Given the description of an element on the screen output the (x, y) to click on. 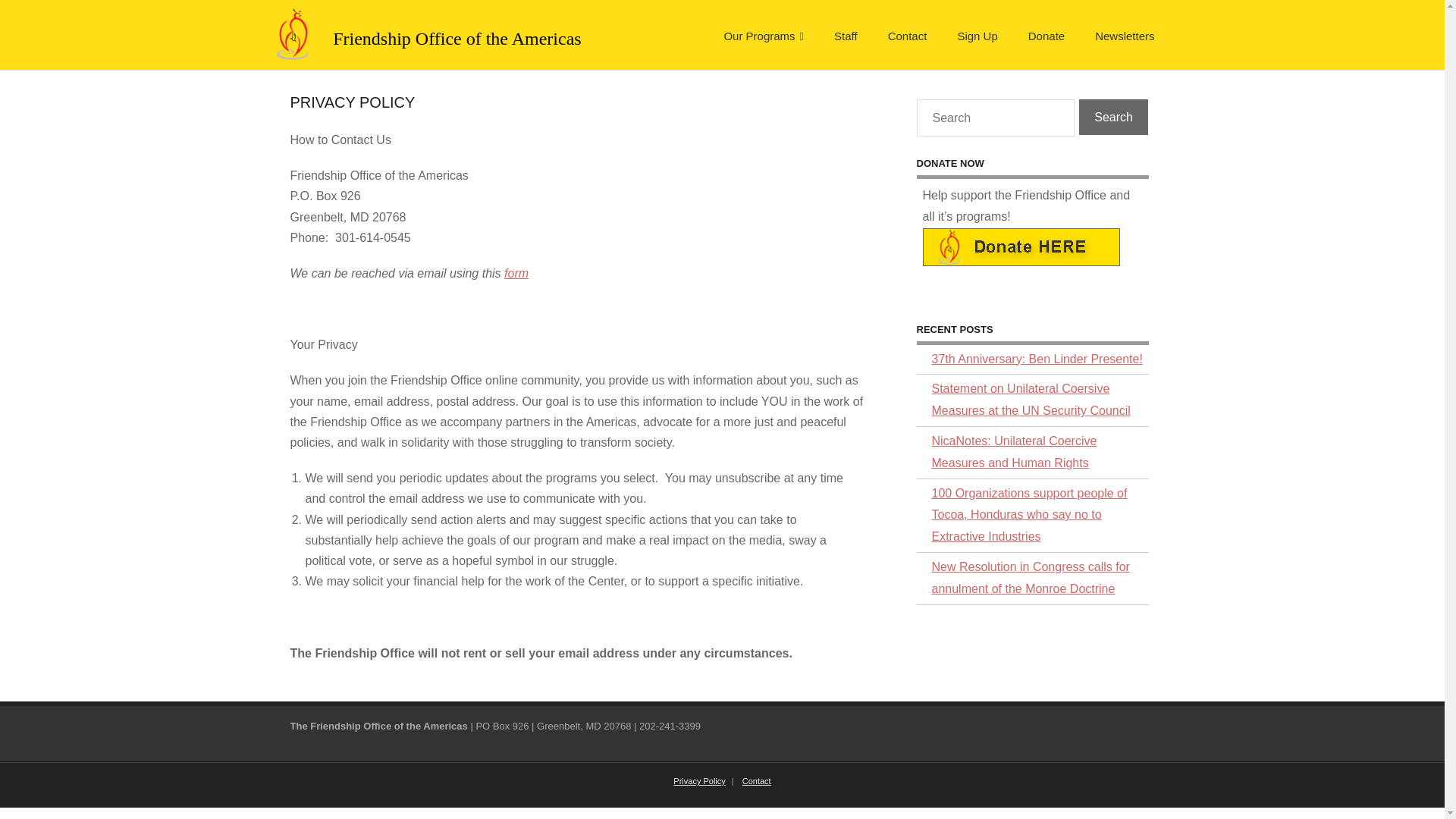
Search (1113, 117)
Contact (756, 780)
Our Programs (762, 29)
Privacy Policy (698, 780)
37th Anniversary: Ben Linder Presente! (1028, 359)
NicaNotes: Unilateral Coercive Measures and Human Rights (1031, 452)
Search (1113, 117)
form (515, 273)
Newsletters (1124, 28)
Contact (907, 28)
Staff (845, 28)
Donate (1046, 28)
